Given the description of an element on the screen output the (x, y) to click on. 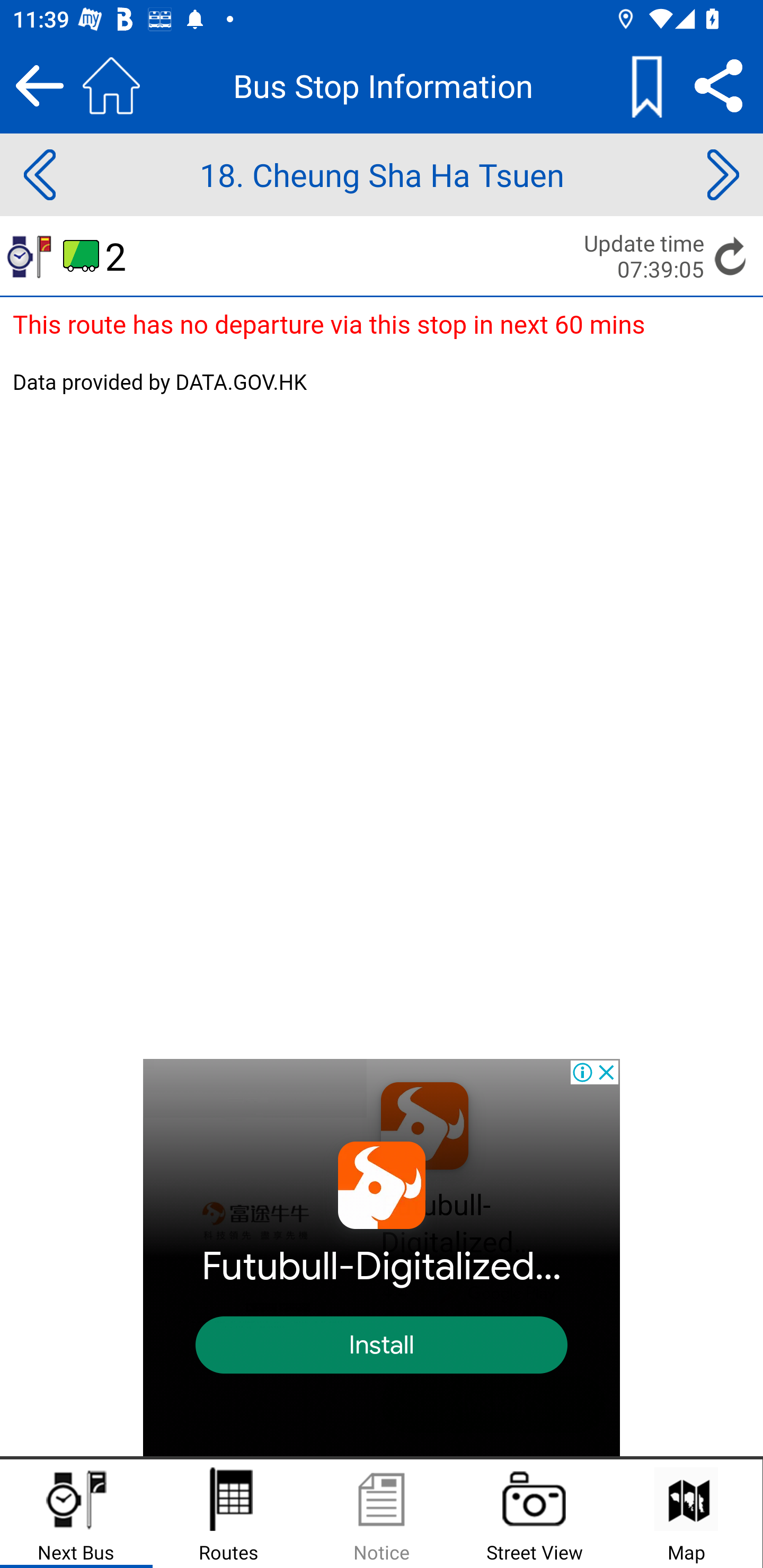
Jump to home page (111, 85)
Add bookmark (646, 85)
Share point to point route search criteria) (718, 85)
Back (39, 85)
Previous stop (39, 174)
Next stop (723, 174)
Refresh (731, 255)
Install (381, 1346)
Next Bus (76, 1513)
Routes (228, 1513)
Notice (381, 1513)
Street View (533, 1513)
Map (686, 1513)
